Given the description of an element on the screen output the (x, y) to click on. 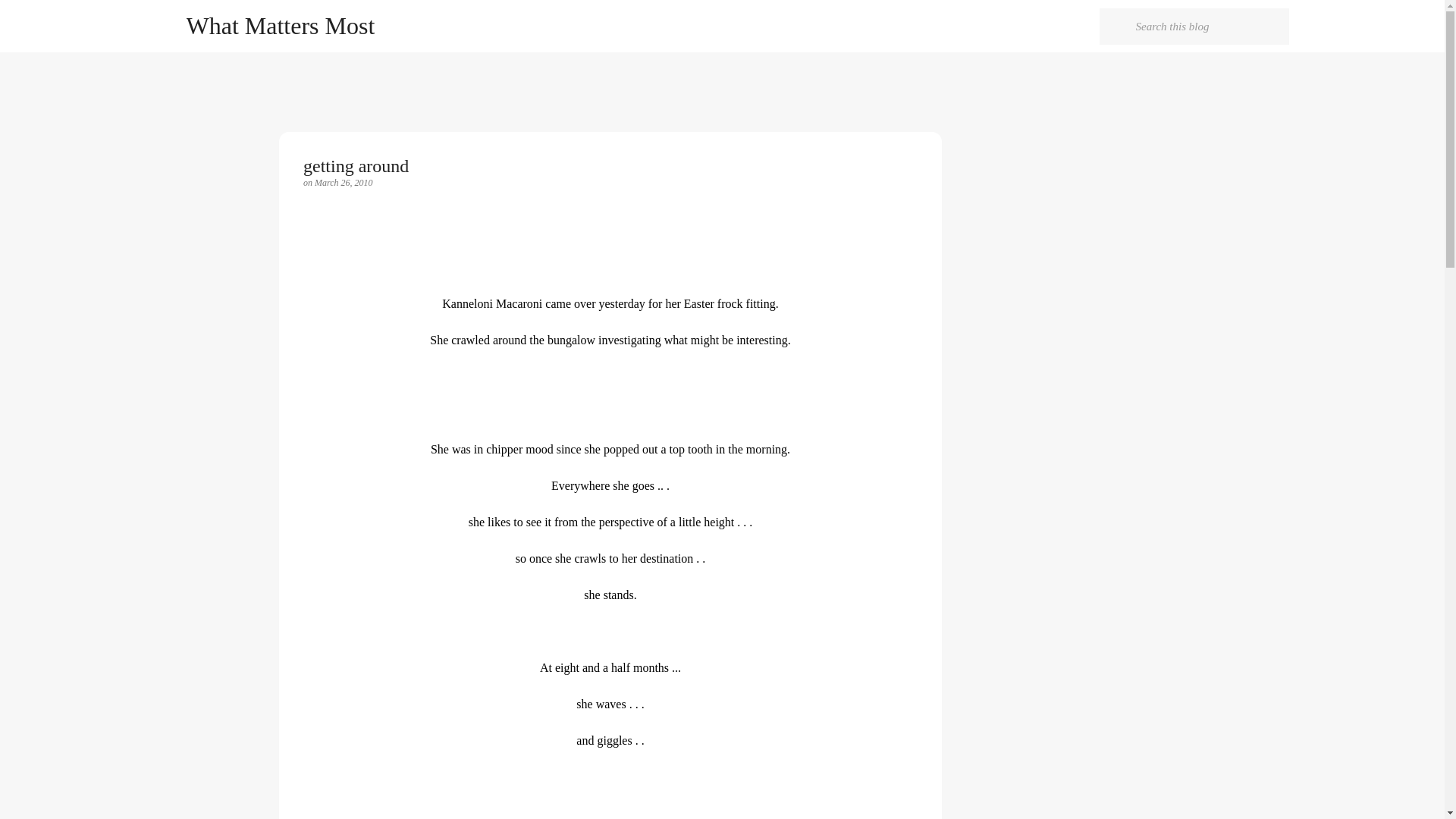
permanent link (343, 182)
March 26, 2010 (343, 182)
What Matters Most (280, 25)
